Given the description of an element on the screen output the (x, y) to click on. 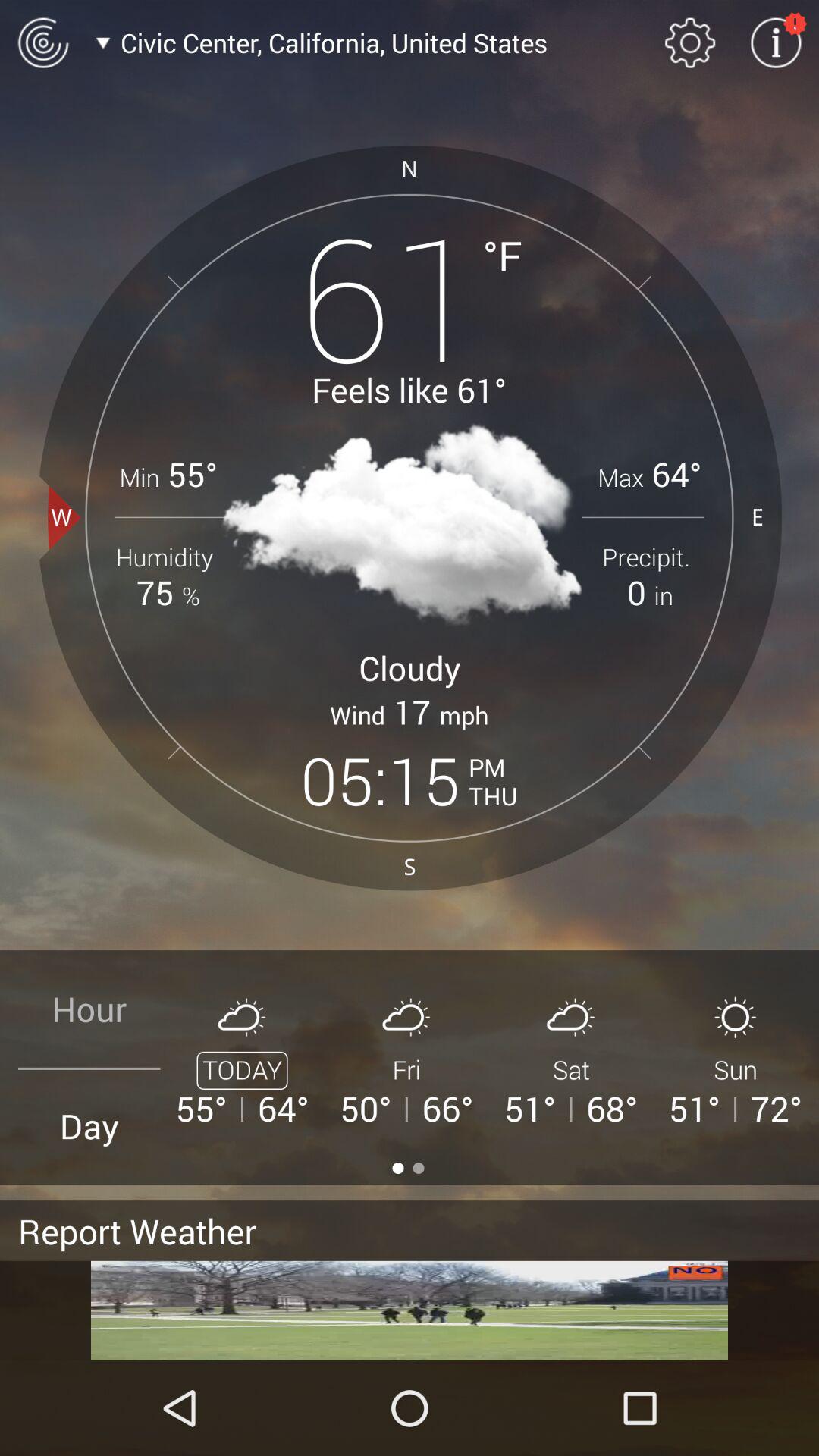
select to report (409, 1310)
